Given the description of an element on the screen output the (x, y) to click on. 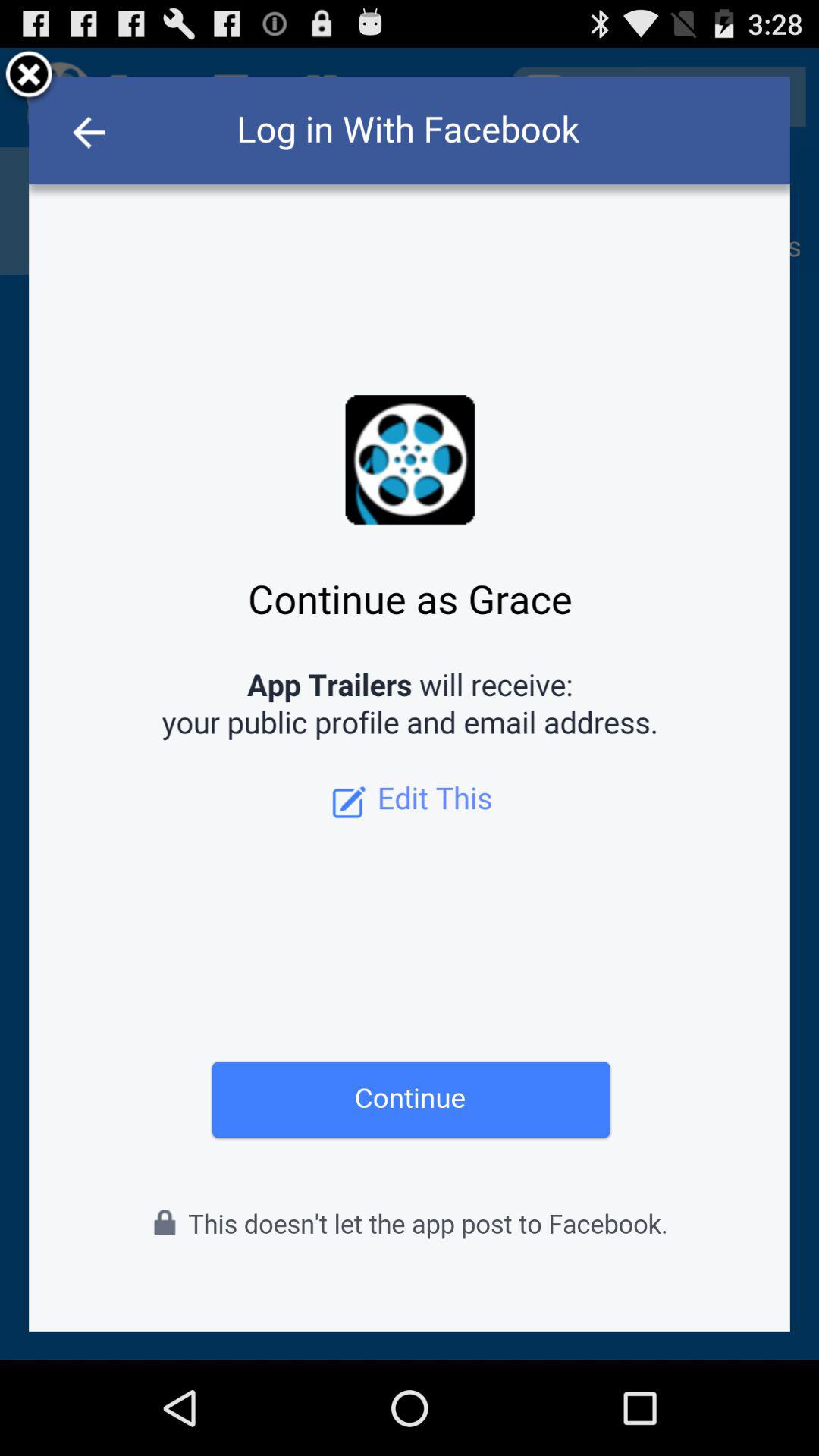
click to close tab (29, 76)
